Given the description of an element on the screen output the (x, y) to click on. 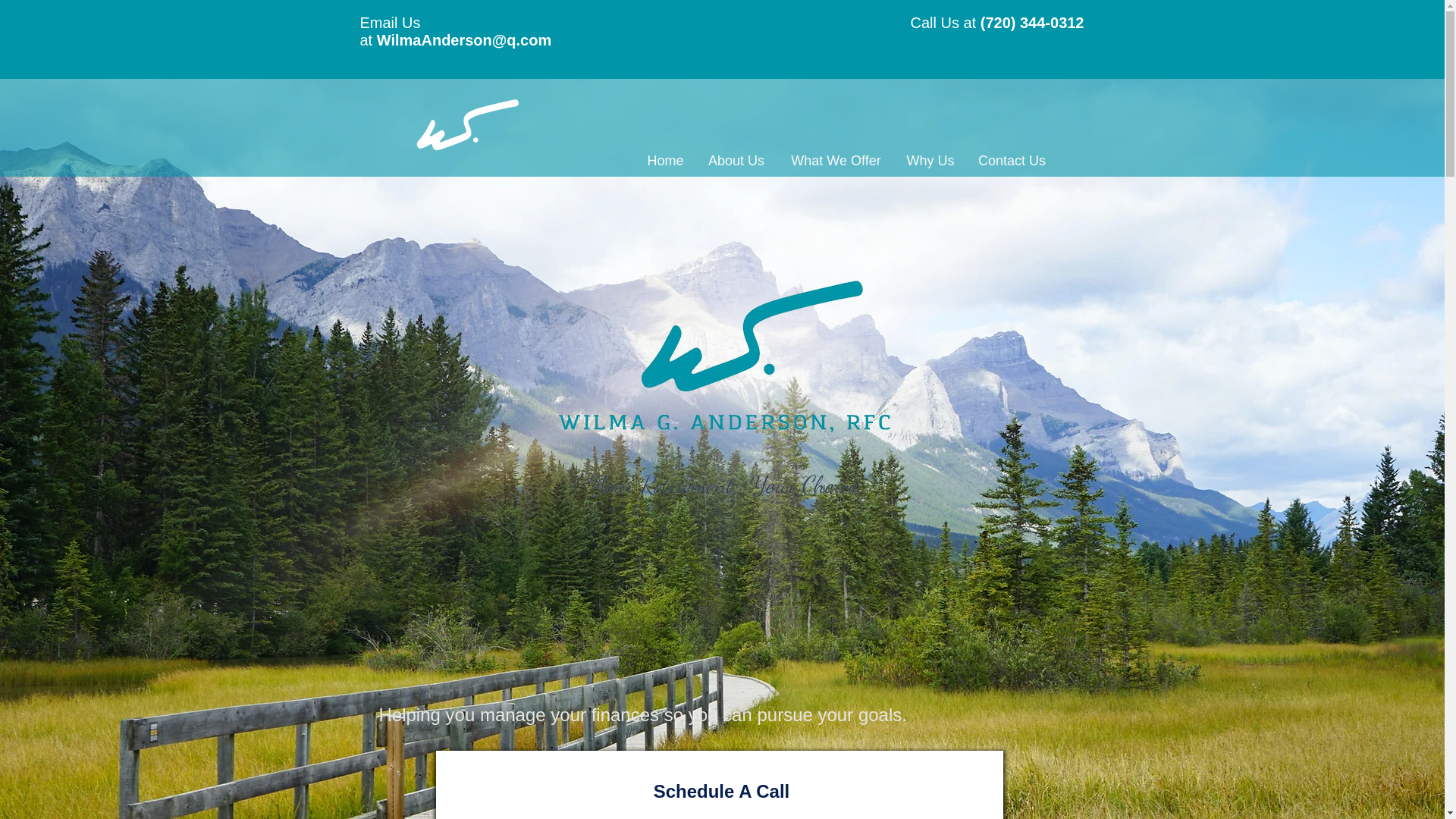
Home (664, 160)
About Us (736, 160)
Why Us (929, 160)
Contact Us (1010, 160)
What We Offer (835, 160)
